Given the description of an element on the screen output the (x, y) to click on. 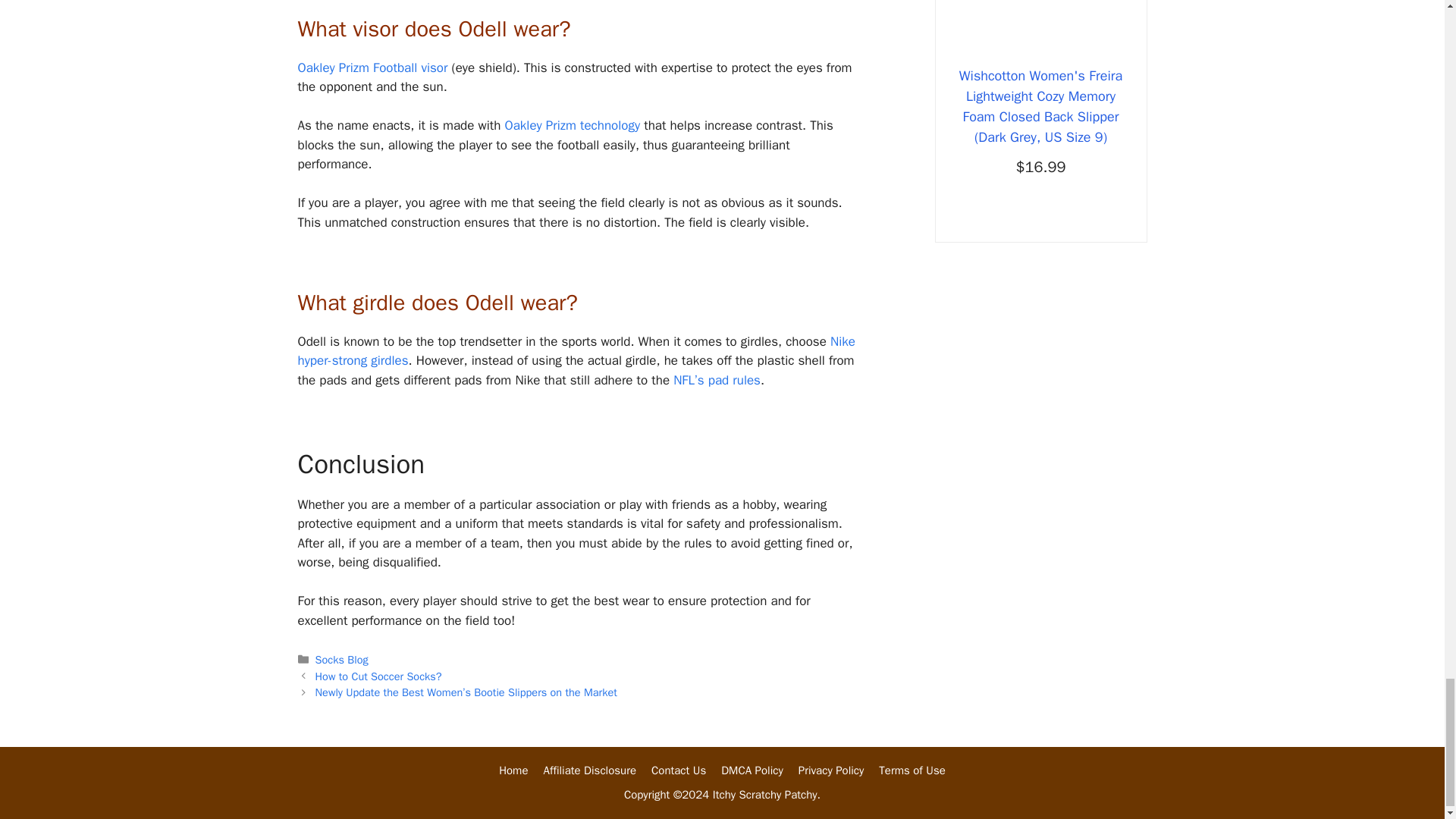
Oakley Prizm technology (571, 125)
Socks Blog (341, 659)
Oakley Prizm Football visor (371, 67)
How to Cut Soccer Socks? (378, 676)
Nike hyper-strong girdles (575, 351)
